Given the description of an element on the screen output the (x, y) to click on. 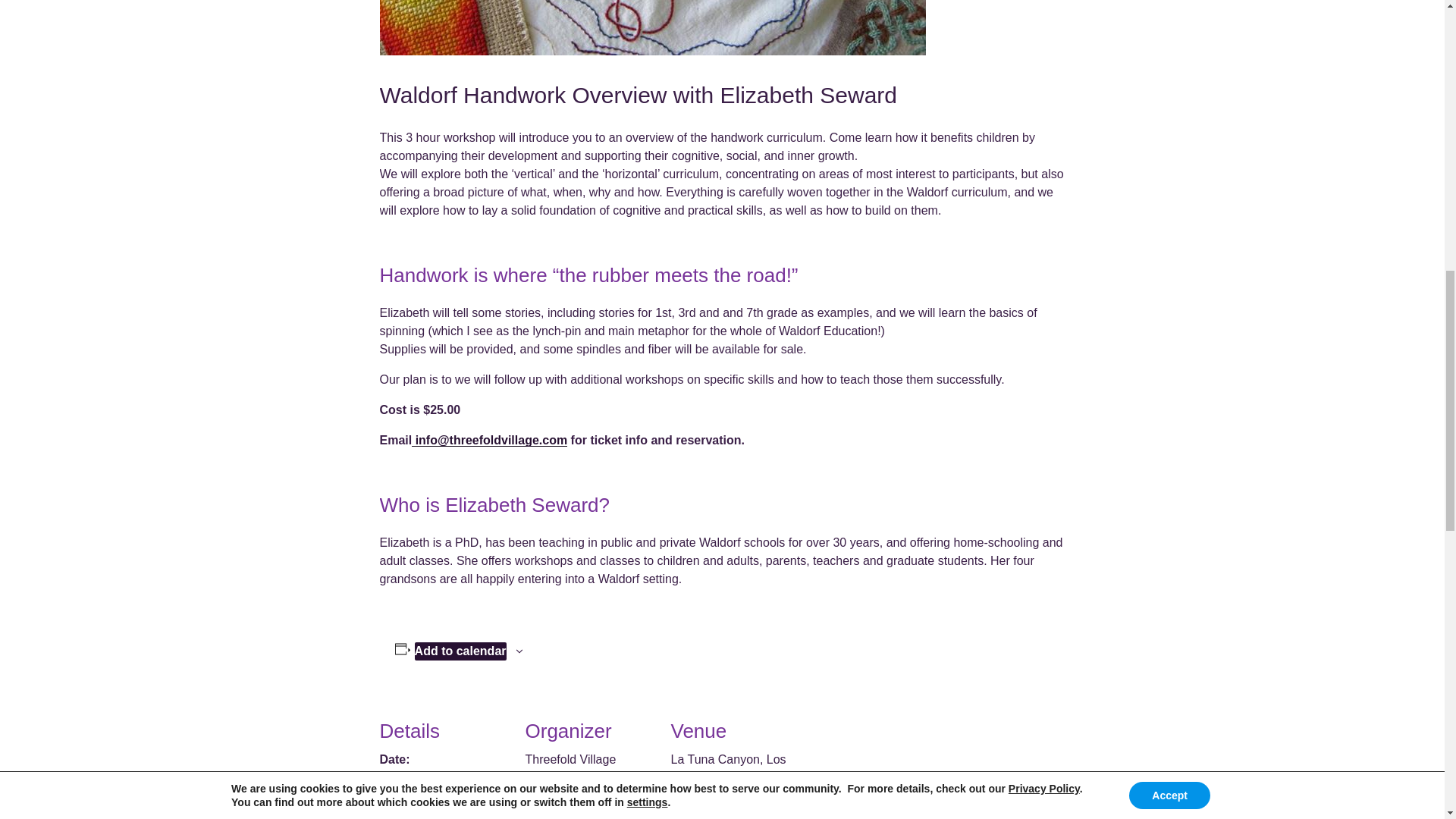
2017-04-23 (416, 780)
Add to calendar (460, 651)
